Given the description of an element on the screen output the (x, y) to click on. 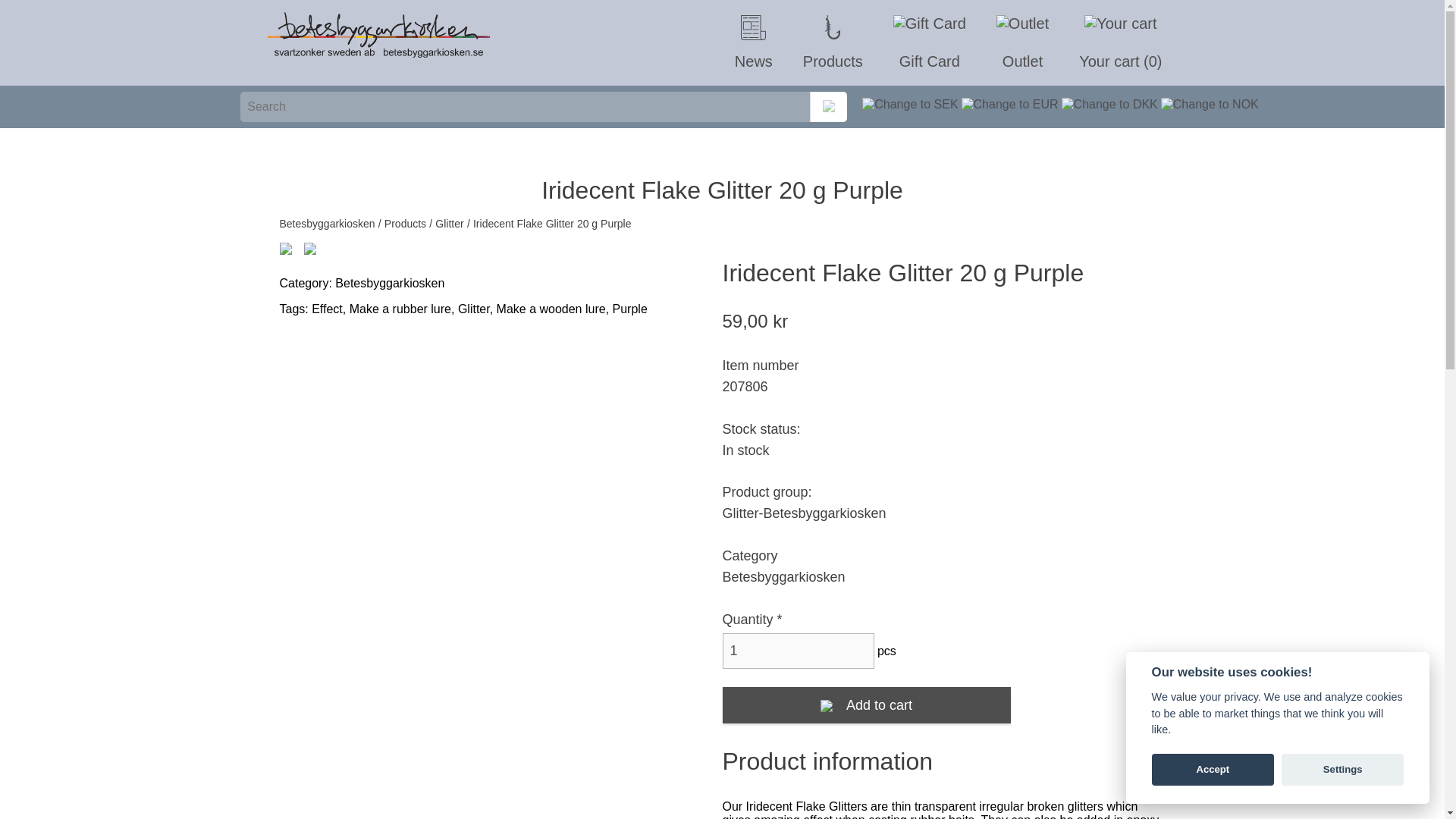
Iridecent Flake Glitter 20 g Purple (552, 223)
Betesbyggarkiosken (326, 223)
Iridecent Flake Glitter 20 g Purple (308, 250)
Your cart (1119, 42)
1 (797, 651)
Gift Card (929, 42)
Betesbyggarkiosken (326, 223)
Iridecent Flake Glitter 20 g Purple (285, 250)
Change to DKK (1109, 106)
Search here for items or item groups (828, 106)
Change to EUR (1009, 106)
Products (833, 42)
Search (828, 106)
Change to NOK (1209, 106)
Outlet (1021, 42)
